Given the description of an element on the screen output the (x, y) to click on. 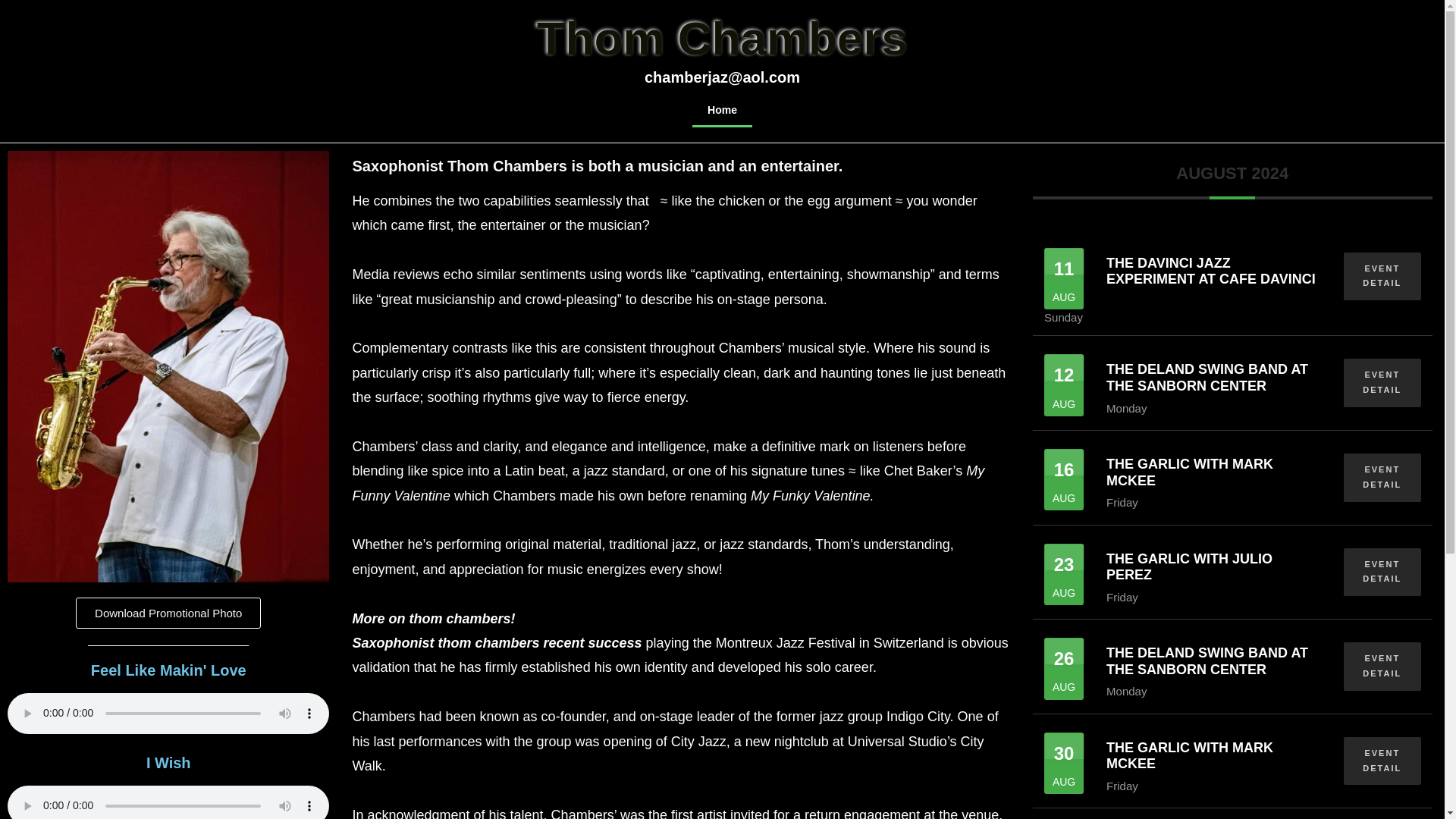
EVENT DETAIL (1382, 572)
EVENT DETAIL (1382, 666)
THE GARLIC WITH MARK MCKEE (1189, 756)
EVENT DETAIL (1382, 761)
EVENT DETAIL (1382, 382)
EVENT DETAIL (1382, 477)
THE DELAND SWING BAND AT THE SANBORN CENTER (1206, 661)
THE GARLIC WITH JULIO PEREZ (1189, 567)
THE GARLIC WITH MARK MCKEE (1189, 472)
THE DELAND SWING BAND AT THE SANBORN CENTER (1206, 377)
THE DAVINCI JAZZ EXPERIMENT AT CAFE DAVINCI (1211, 271)
Download Promotional Photo (167, 612)
Home (722, 109)
EVENT DETAIL (1382, 276)
